Given the description of an element on the screen output the (x, y) to click on. 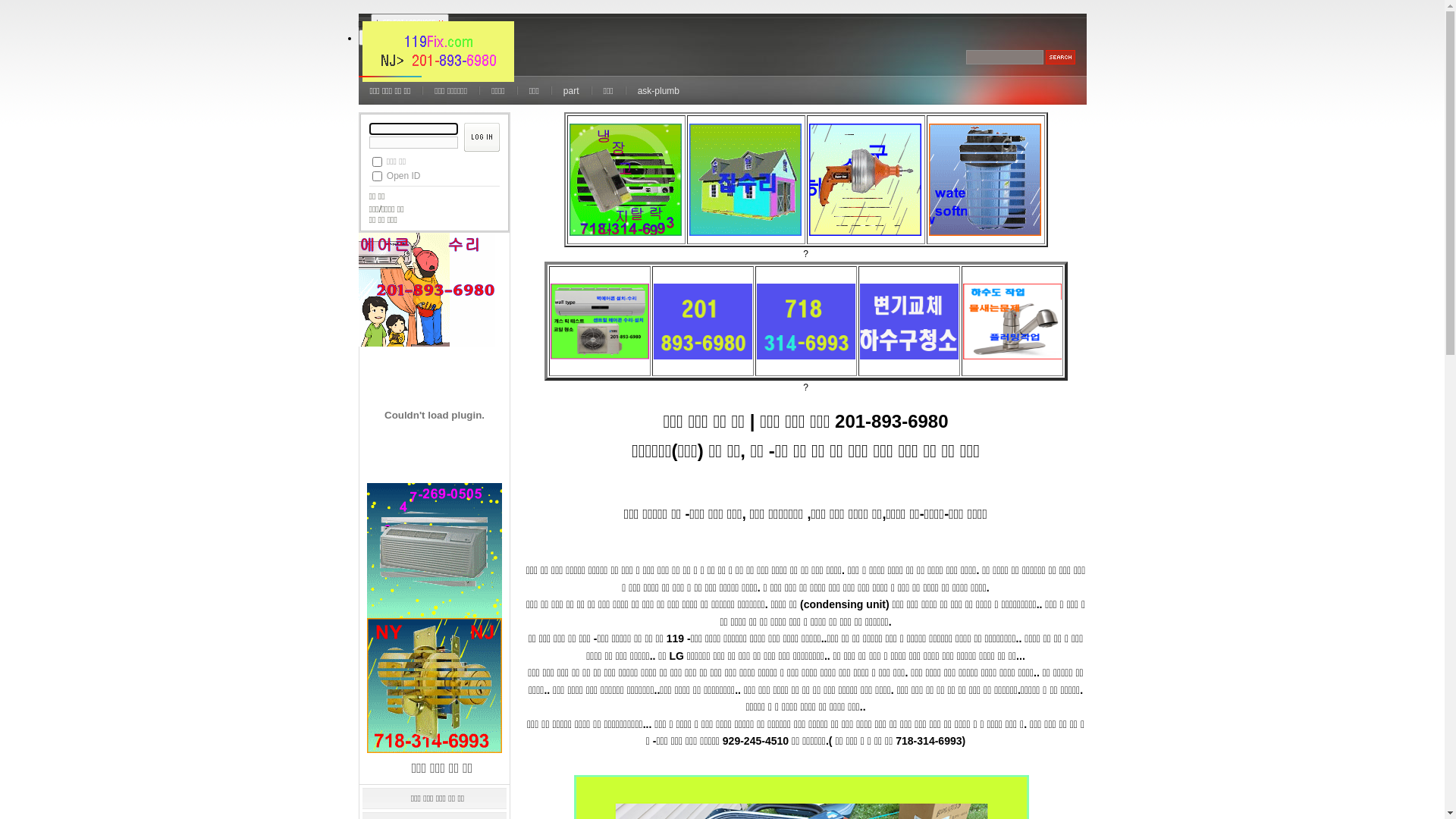
user id Element type: hover (412, 128)
password Element type: hover (412, 142)
Y Element type: text (376, 161)
Y Element type: text (376, 176)
keyword Element type: hover (1004, 57)
English Element type: text (380, 37)
part Element type: text (571, 89)
ask-plumb Element type: text (658, 89)
